Given the description of an element on the screen output the (x, y) to click on. 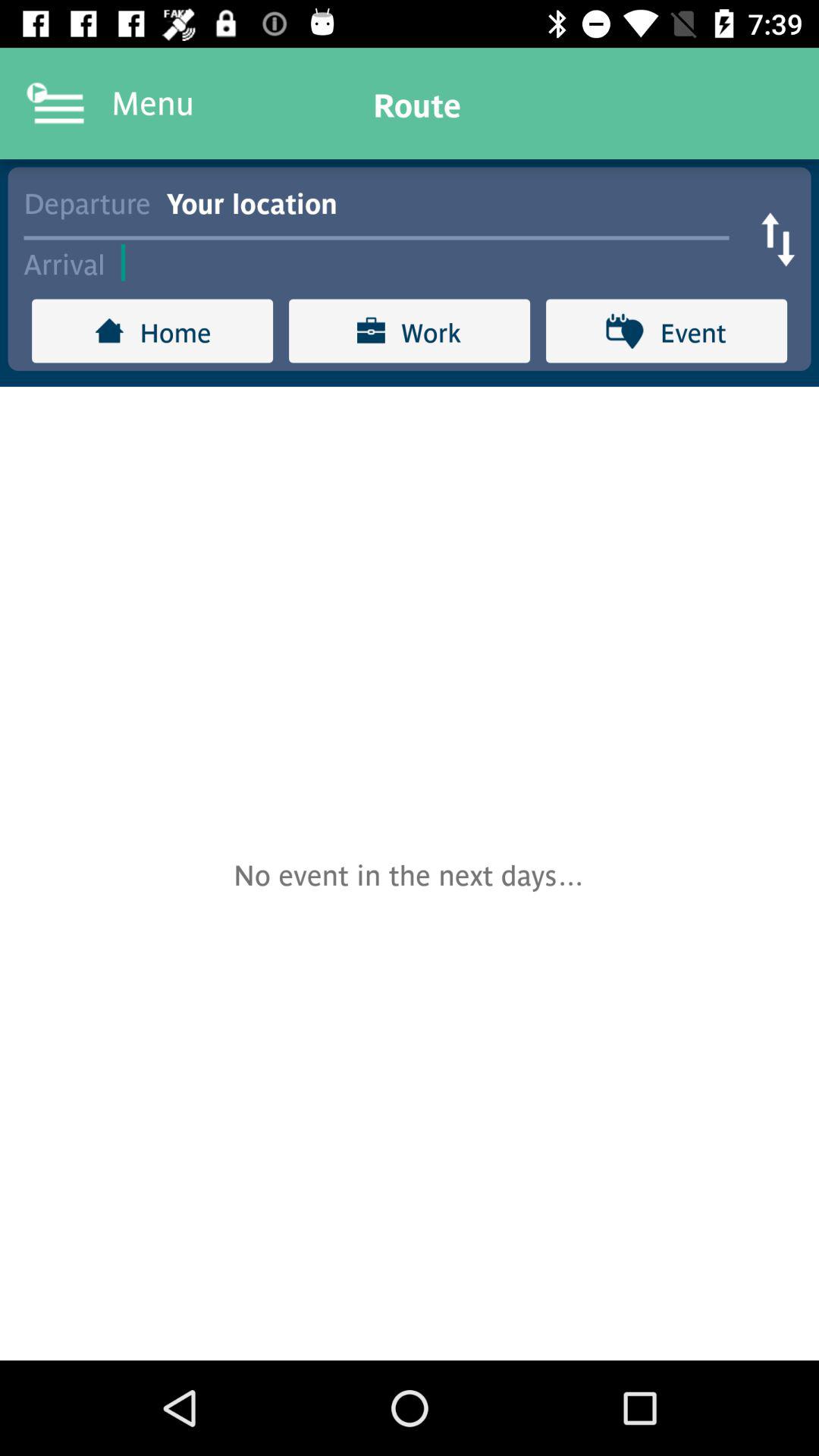
tap the your location (455, 201)
